Given the description of an element on the screen output the (x, y) to click on. 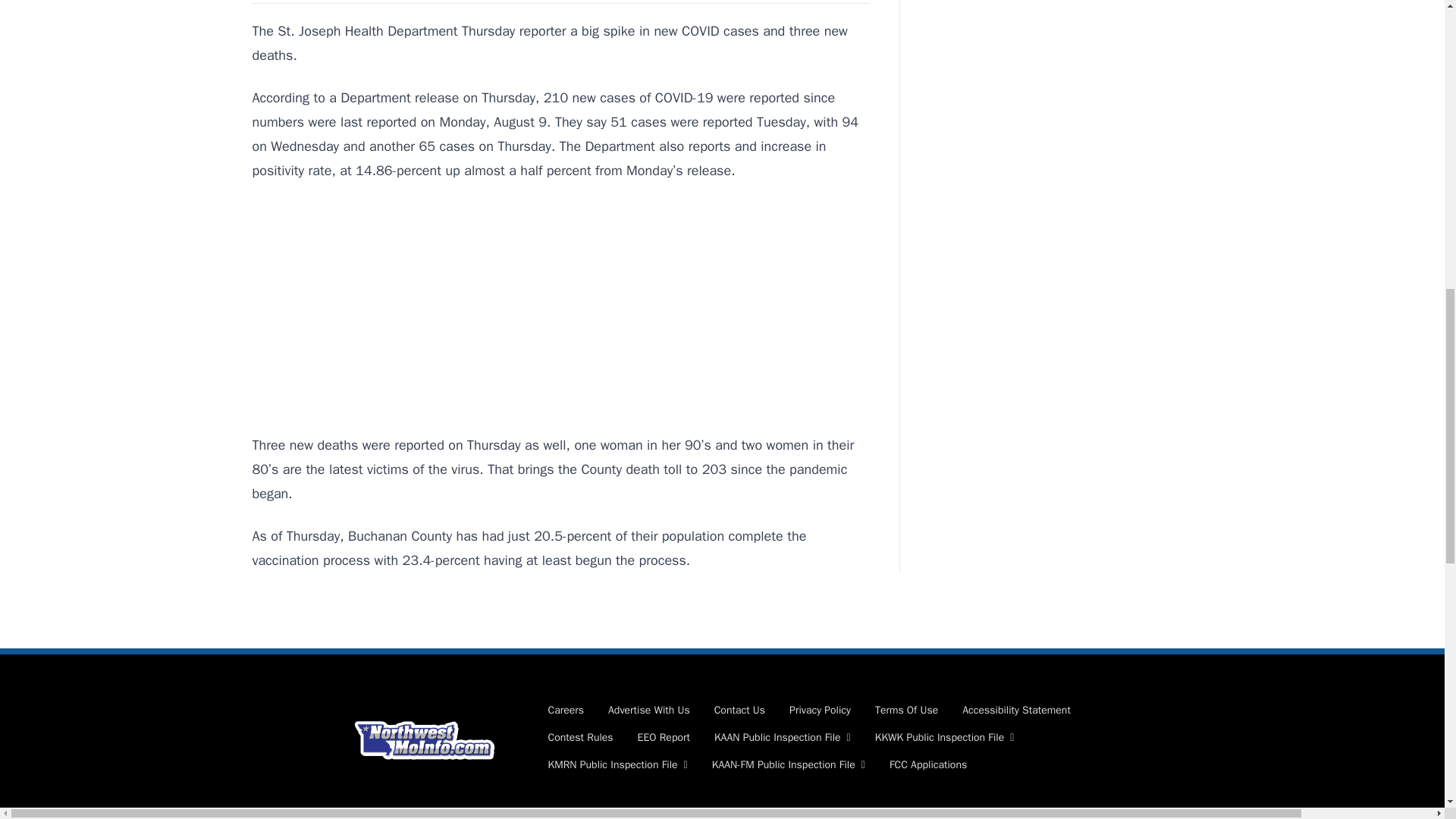
3rd party ad content (560, 307)
